Given the description of an element on the screen output the (x, y) to click on. 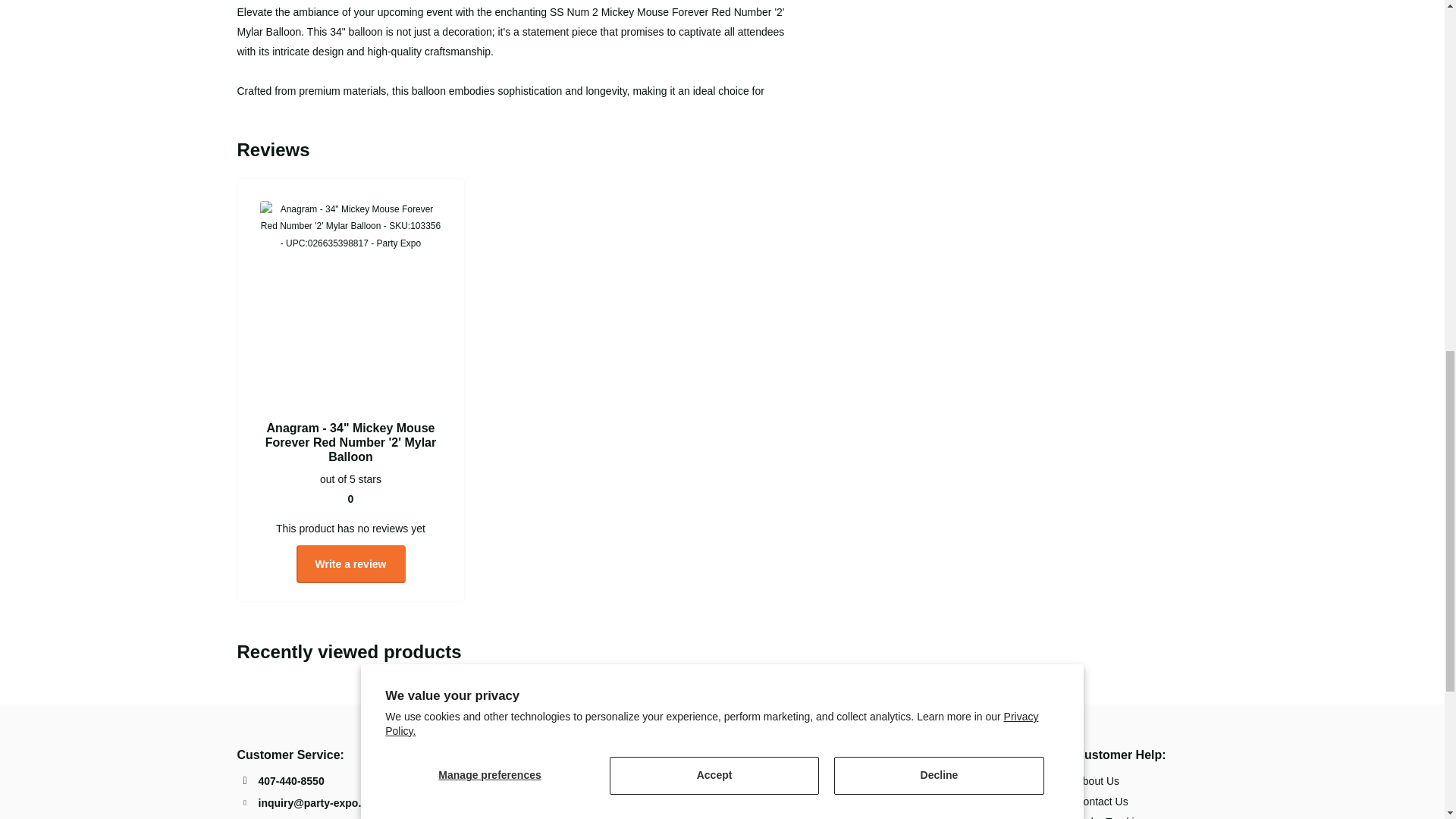
Order Tracking (1110, 817)
Privacy Policy (938, 780)
About Us (1097, 780)
Shipping Policy (941, 817)
Contact Us (1100, 801)
Refund Policy (938, 801)
